Given the description of an element on the screen output the (x, y) to click on. 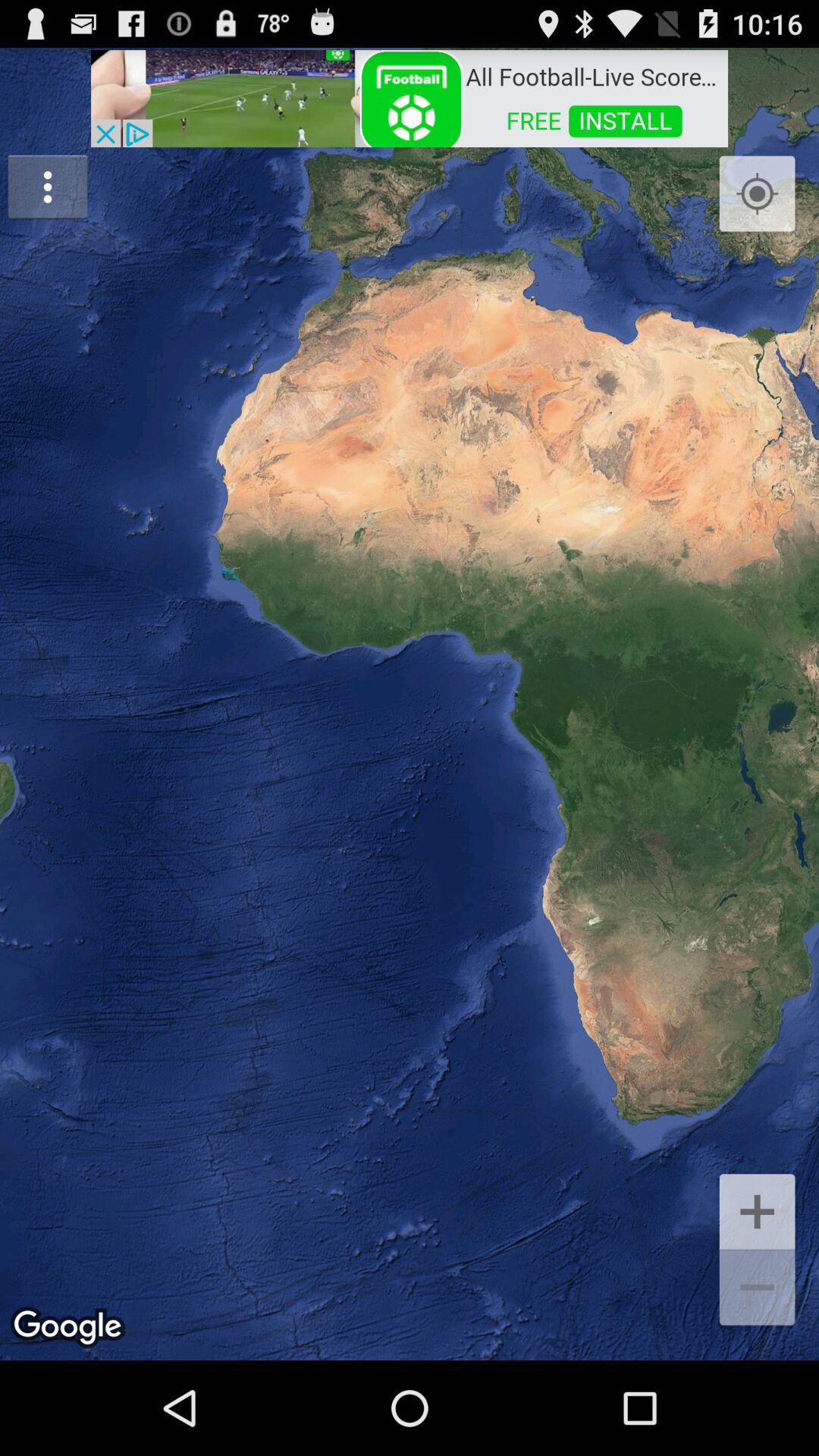
choose icon at the top right corner (757, 194)
